Given the description of an element on the screen output the (x, y) to click on. 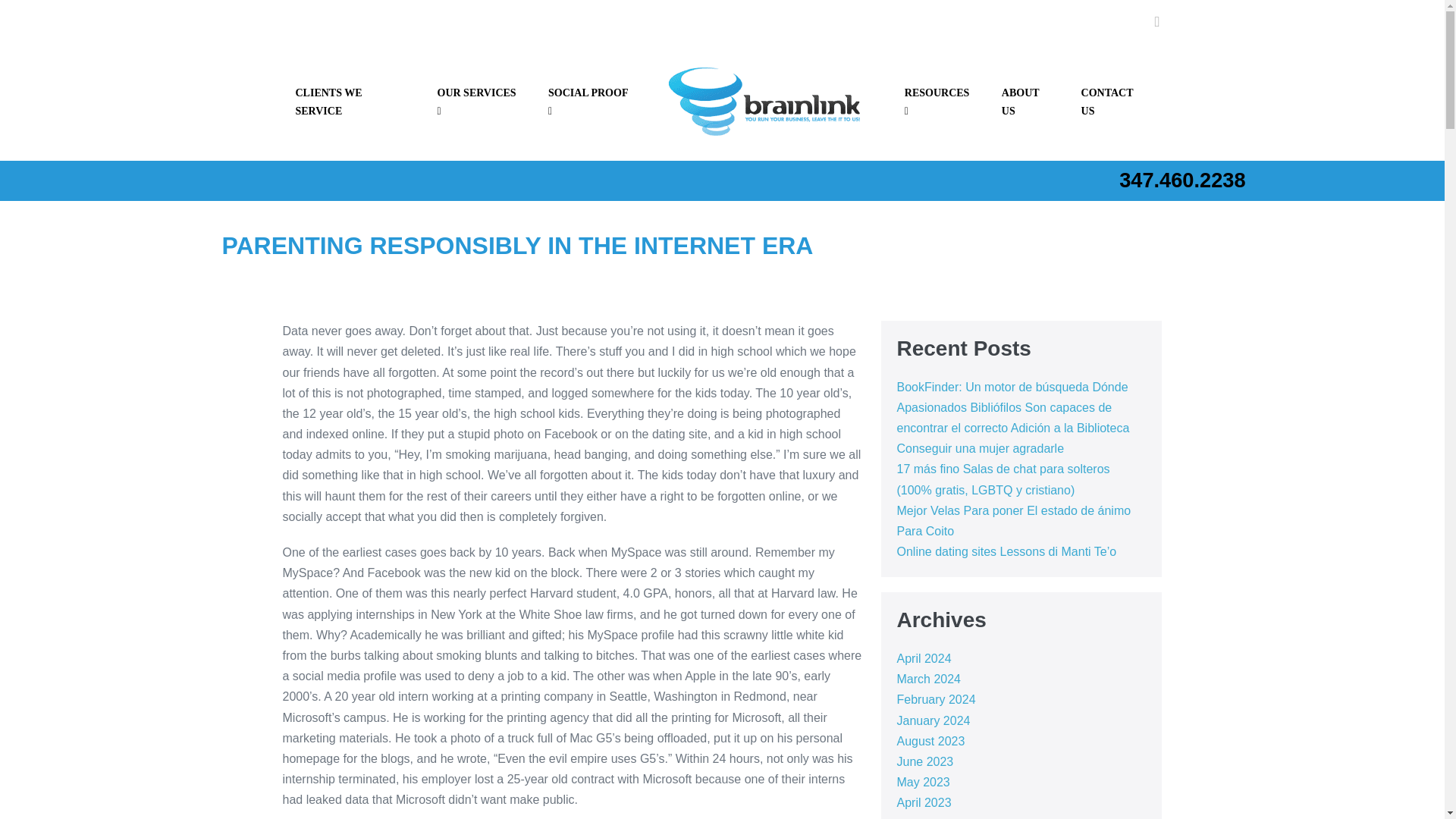
Brainlink (769, 101)
OUR SERVICES (480, 101)
RESOURCES (939, 101)
347.460.2238 (1181, 179)
ABOUT US (1028, 101)
SOCIAL PROOF (590, 101)
CLIENTS WE SERVICE (352, 101)
CONTACT US (1114, 101)
